Given the description of an element on the screen output the (x, y) to click on. 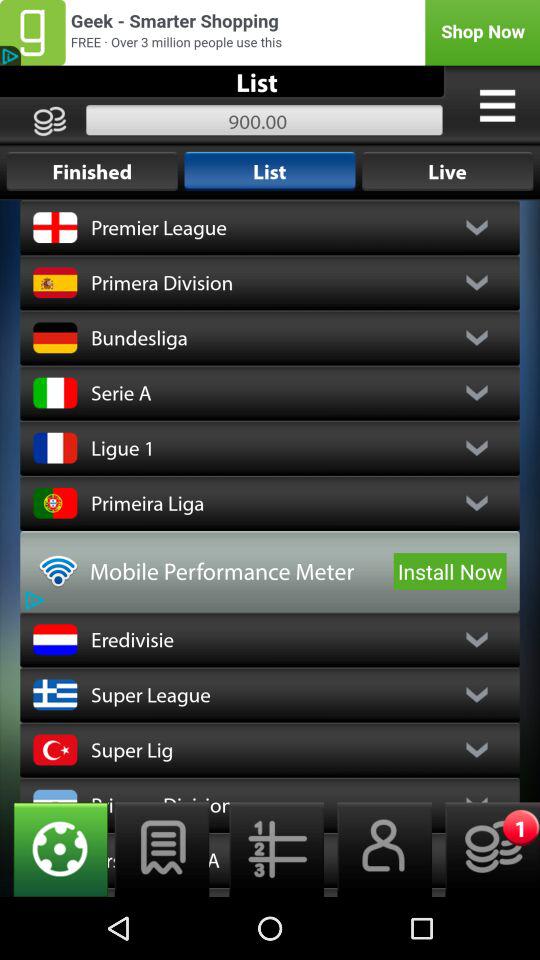
list button (161, 849)
